Given the description of an element on the screen output the (x, y) to click on. 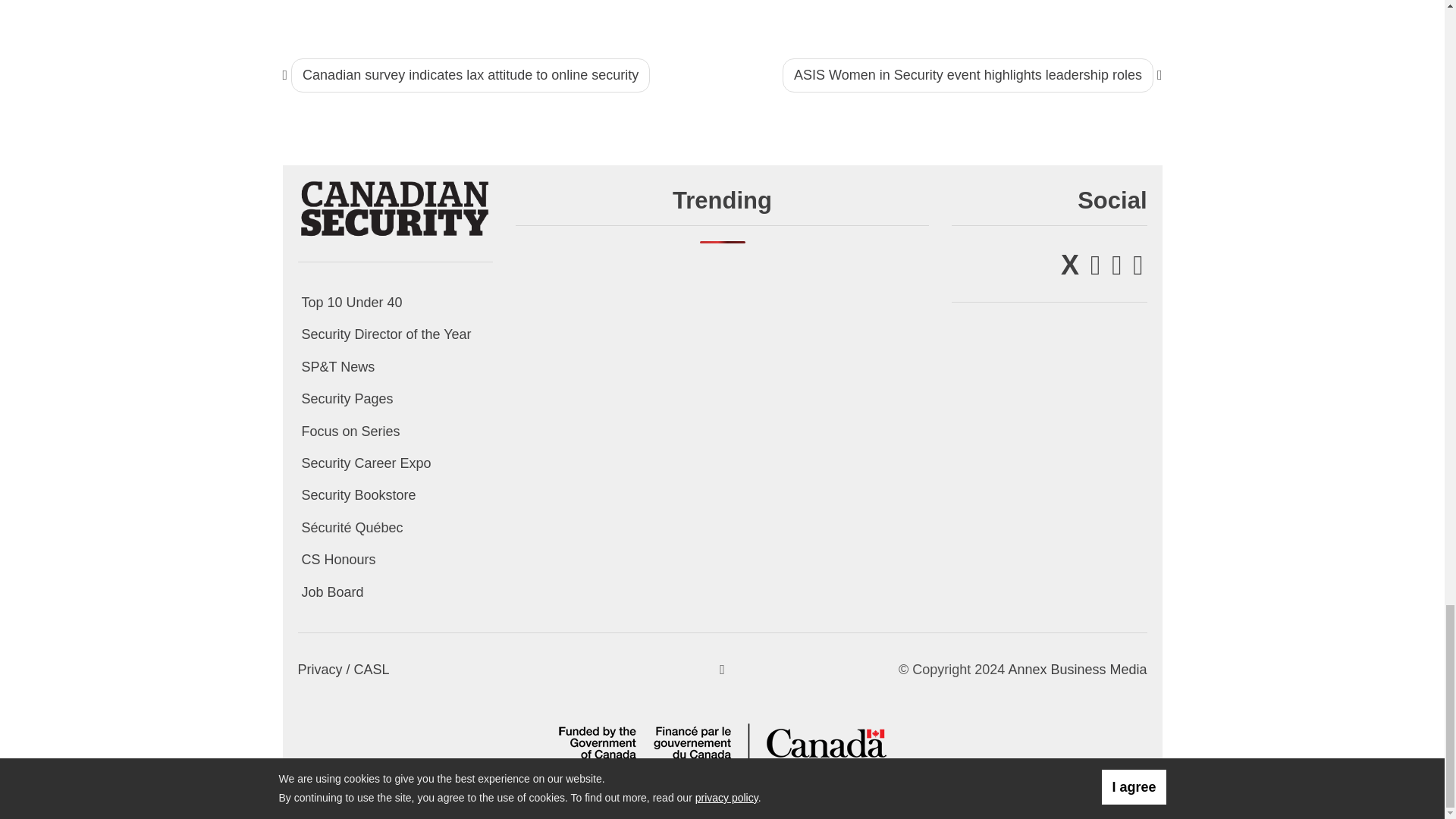
Canadian Security Magazine (395, 207)
Annex Business Media (1077, 669)
